Given the description of an element on the screen output the (x, y) to click on. 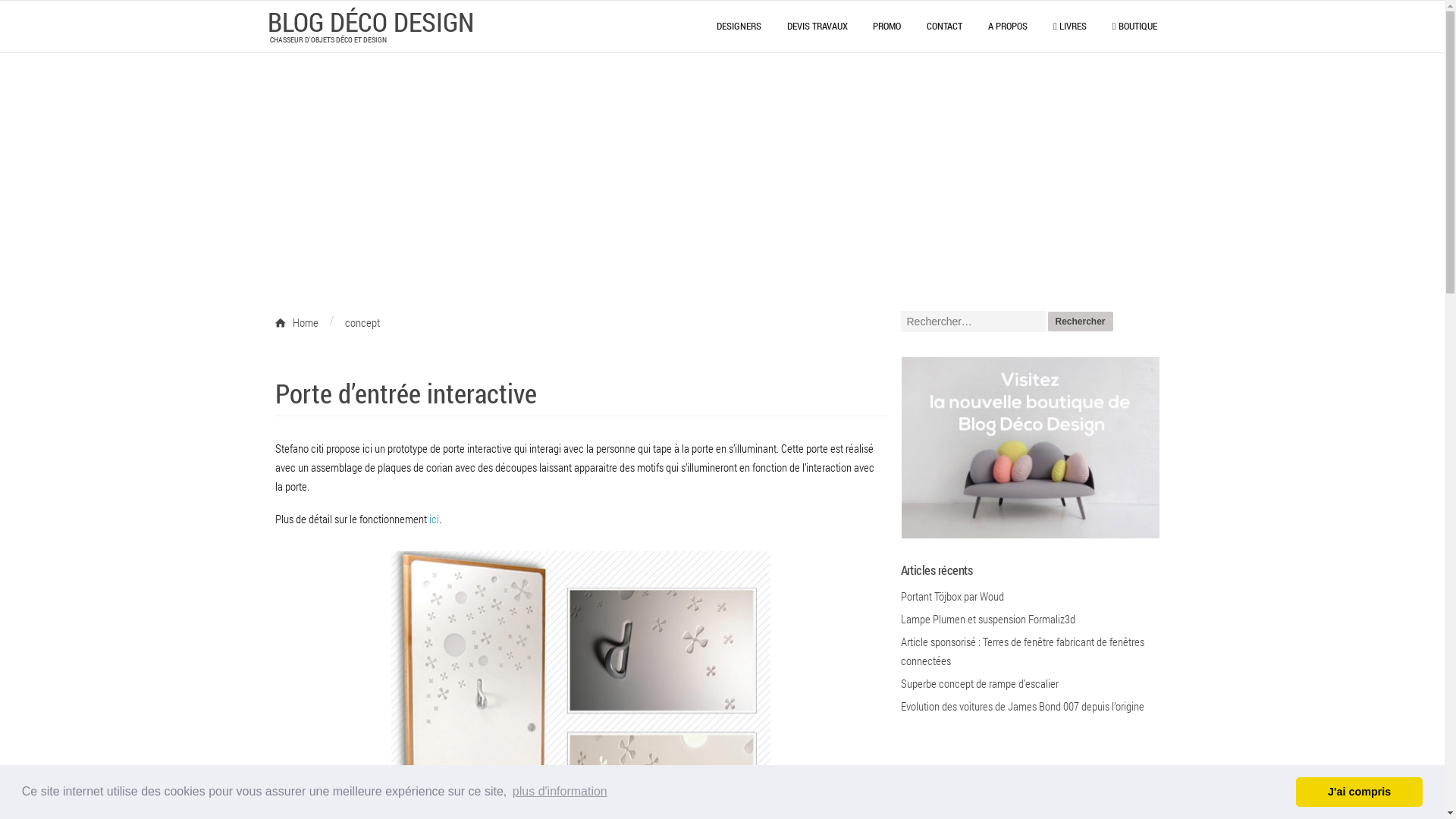
DEVIS TRAVAUX Element type: text (817, 25)
plus d'information Element type: text (559, 791)
Advertisement Element type: hover (550, 357)
A PROPOS Element type: text (1007, 25)
LIVRES Element type: text (1069, 25)
J'ai compris Element type: text (1358, 791)
BOUTIQUE Element type: text (1134, 25)
Rechercher Element type: text (1080, 321)
Home Element type: text (301, 322)
Lampe Plumen et suspension Formaliz3d Element type: text (987, 618)
ici Element type: text (434, 518)
DESIGNERS Element type: text (738, 25)
Advertisement Element type: hover (721, 166)
concept Element type: text (362, 322)
CONTACT Element type: text (944, 25)
PROMO Element type: text (886, 25)
